Given the description of an element on the screen output the (x, y) to click on. 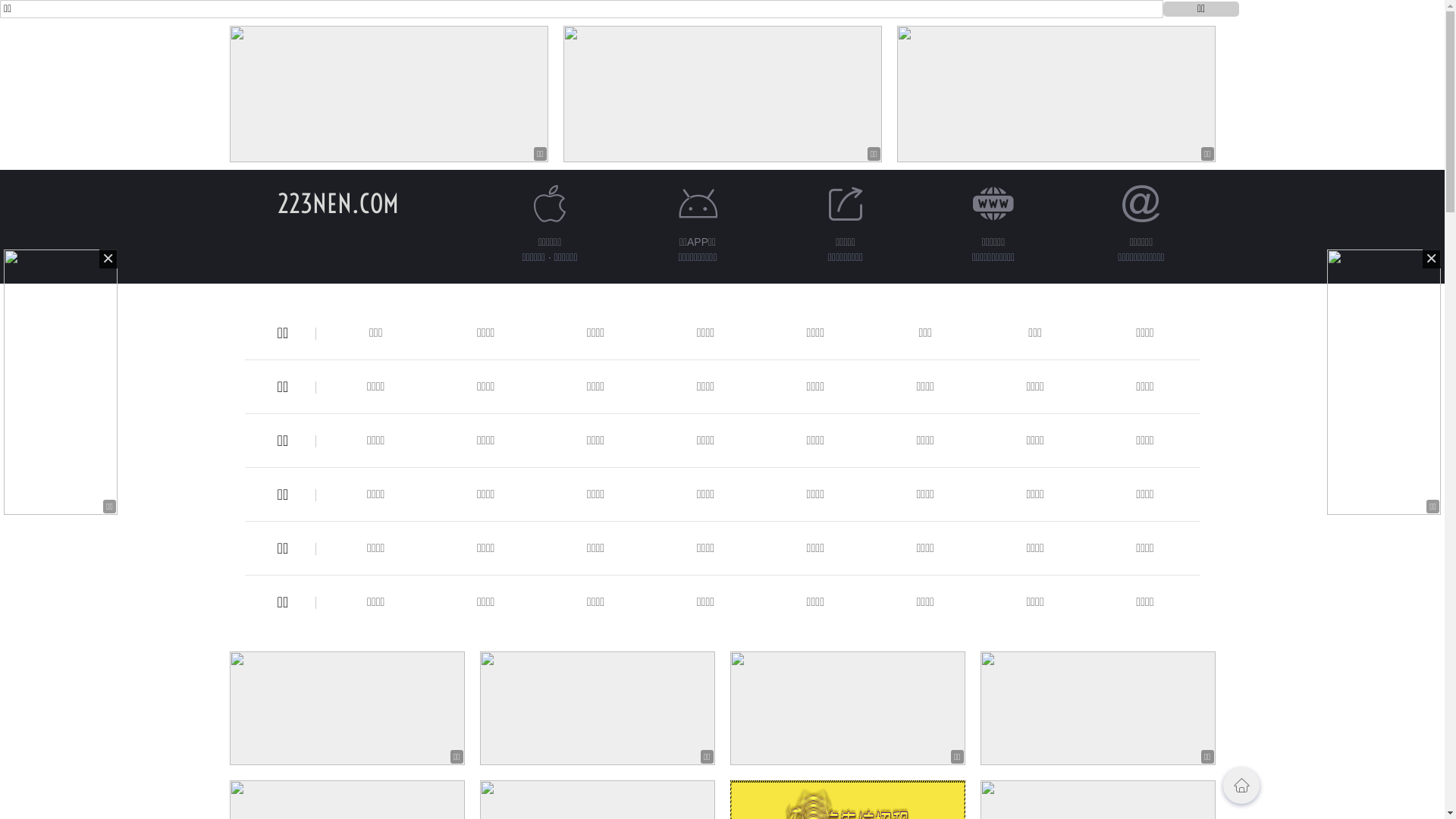
223NEN.COM Element type: text (337, 203)
